Given the description of an element on the screen output the (x, y) to click on. 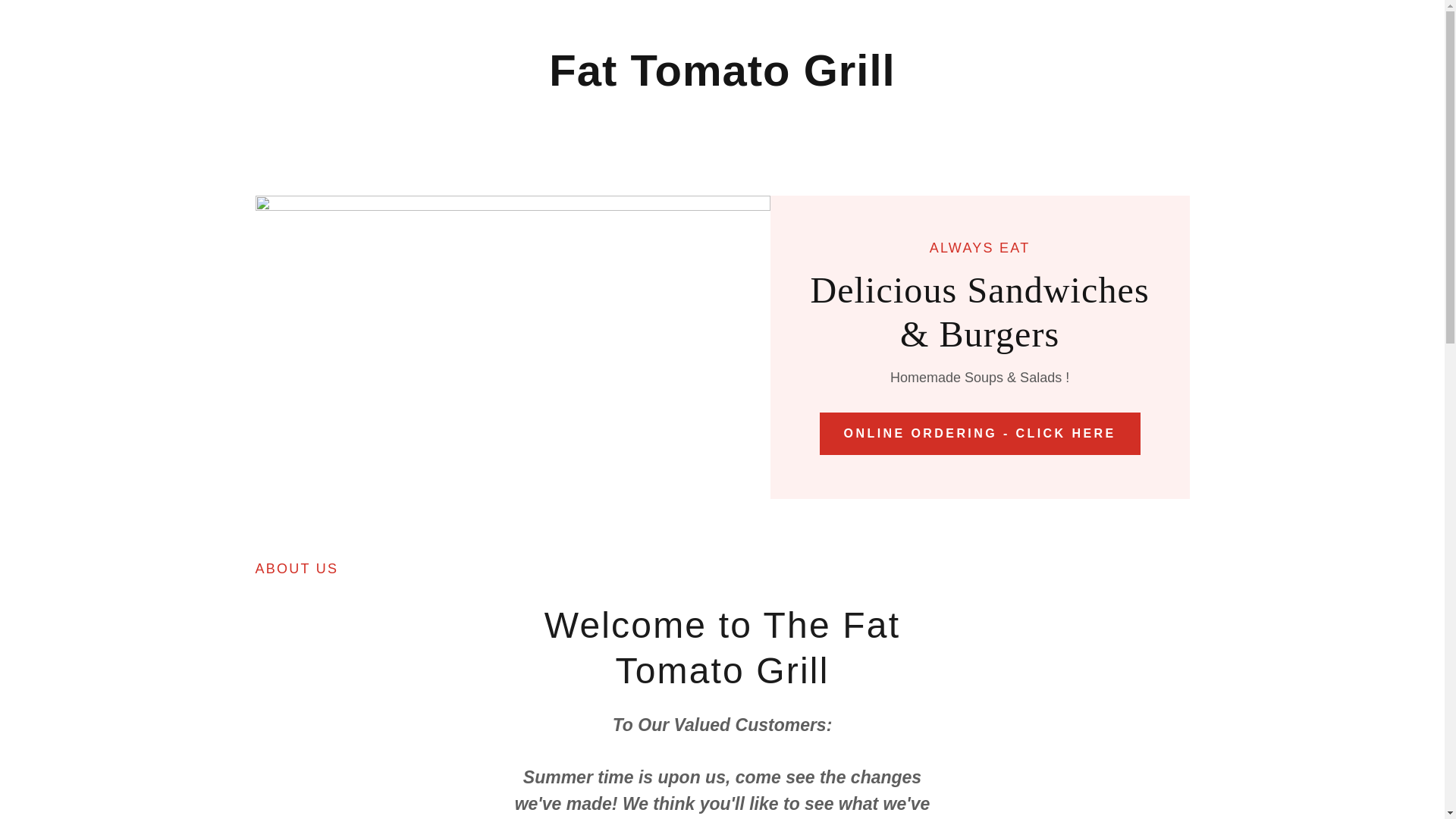
ONLINE ORDERING - CLICK HERE (979, 433)
Fat Tomato Grill (721, 80)
Fat Tomato Grill (721, 80)
